Given the description of an element on the screen output the (x, y) to click on. 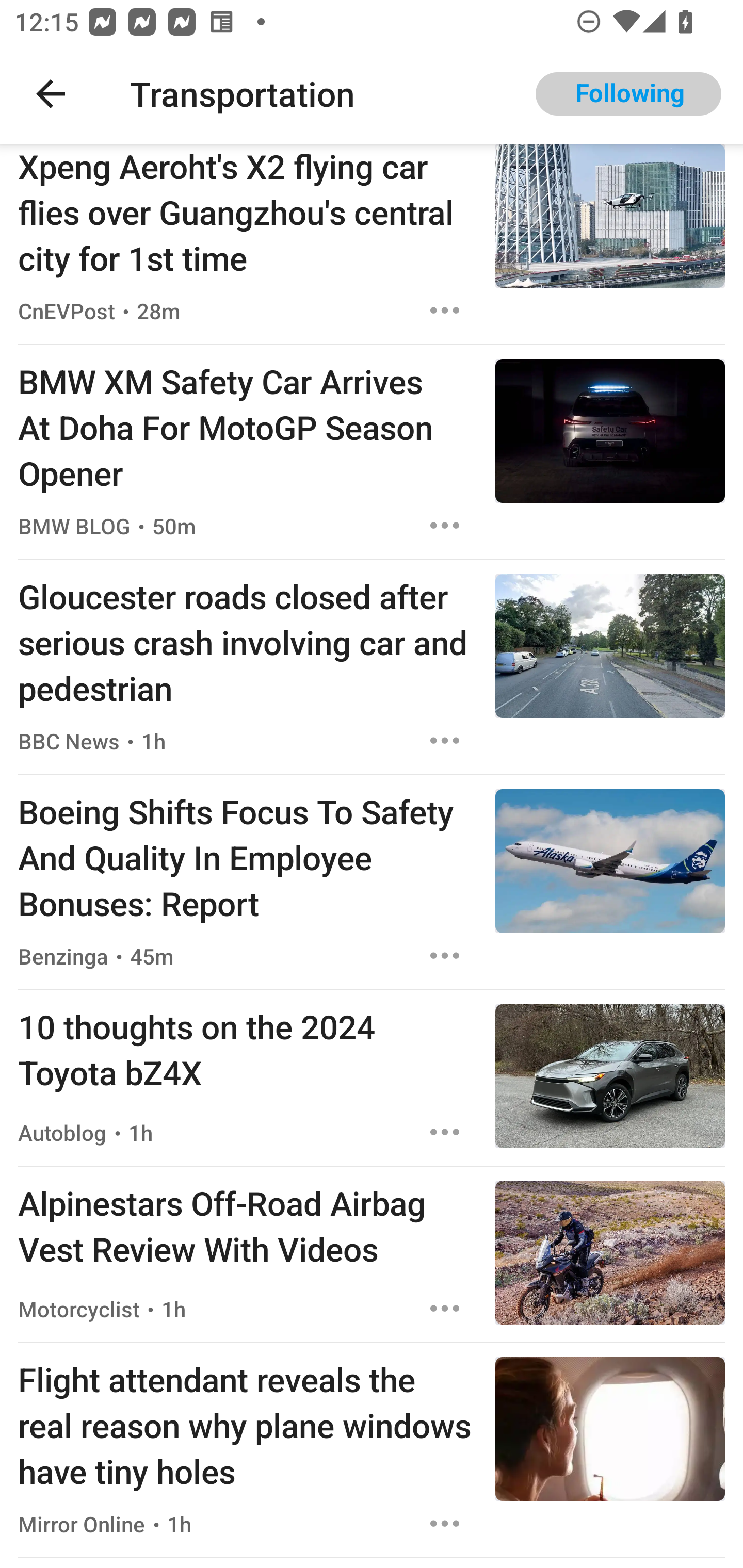
Navigate up (50, 93)
Following (628, 94)
Options (444, 310)
Options (444, 525)
Options (444, 740)
Options (444, 955)
Options (444, 1132)
Options (444, 1308)
Options (444, 1524)
